Given the description of an element on the screen output the (x, y) to click on. 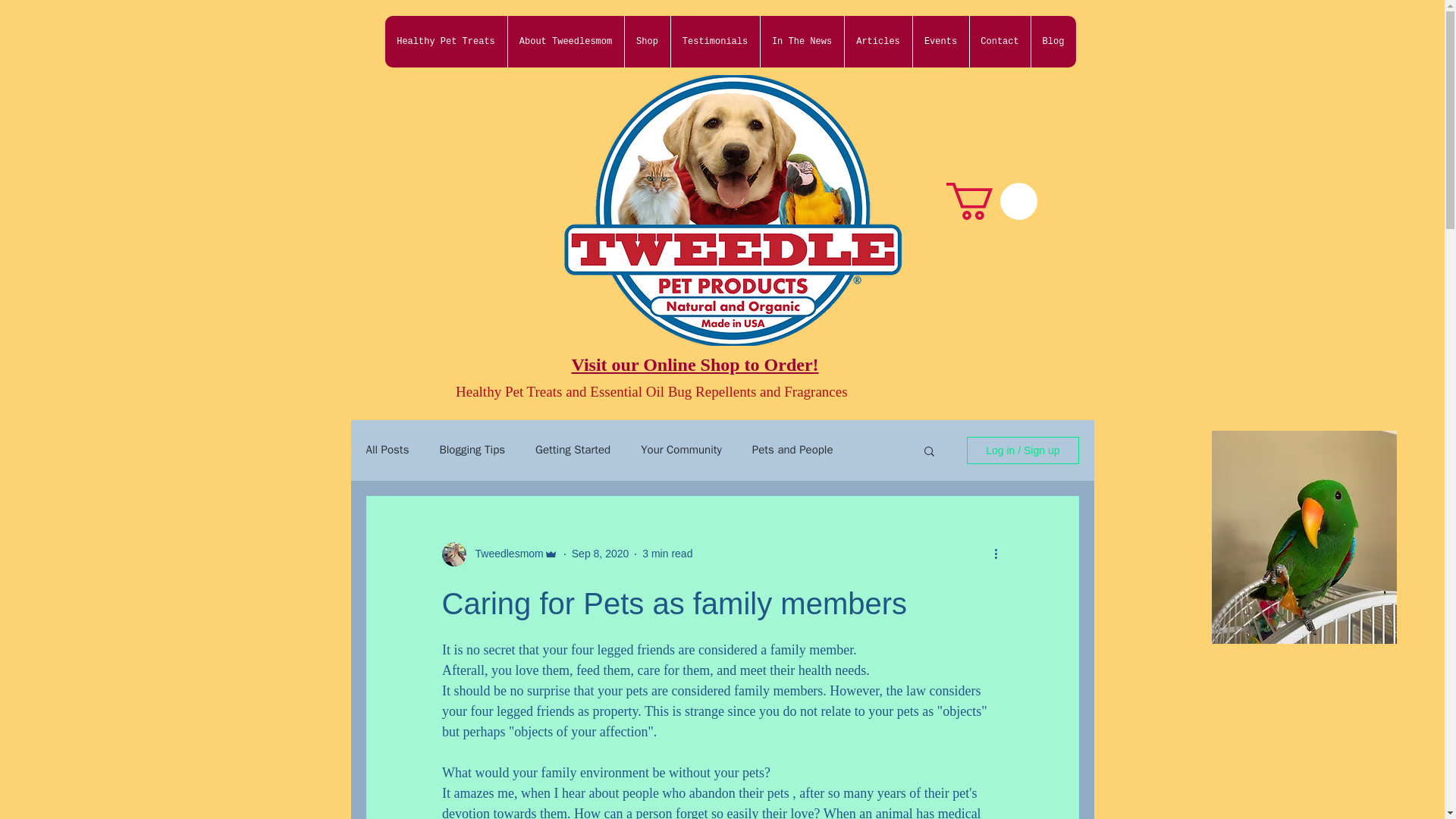
Blogging Tips (472, 450)
Tweedlesmom (504, 553)
Healthy Pet Treats (445, 41)
In The News (802, 41)
Getting Started (572, 450)
About Tweedlesmom (564, 41)
Shop (646, 41)
Pets and People (792, 450)
All Posts (387, 450)
Events (939, 41)
Visit our Online Shop to Order! (695, 364)
Articles (877, 41)
3 min read (667, 553)
Testimonials (714, 41)
Sep 8, 2020 (600, 553)
